Given the description of an element on the screen output the (x, y) to click on. 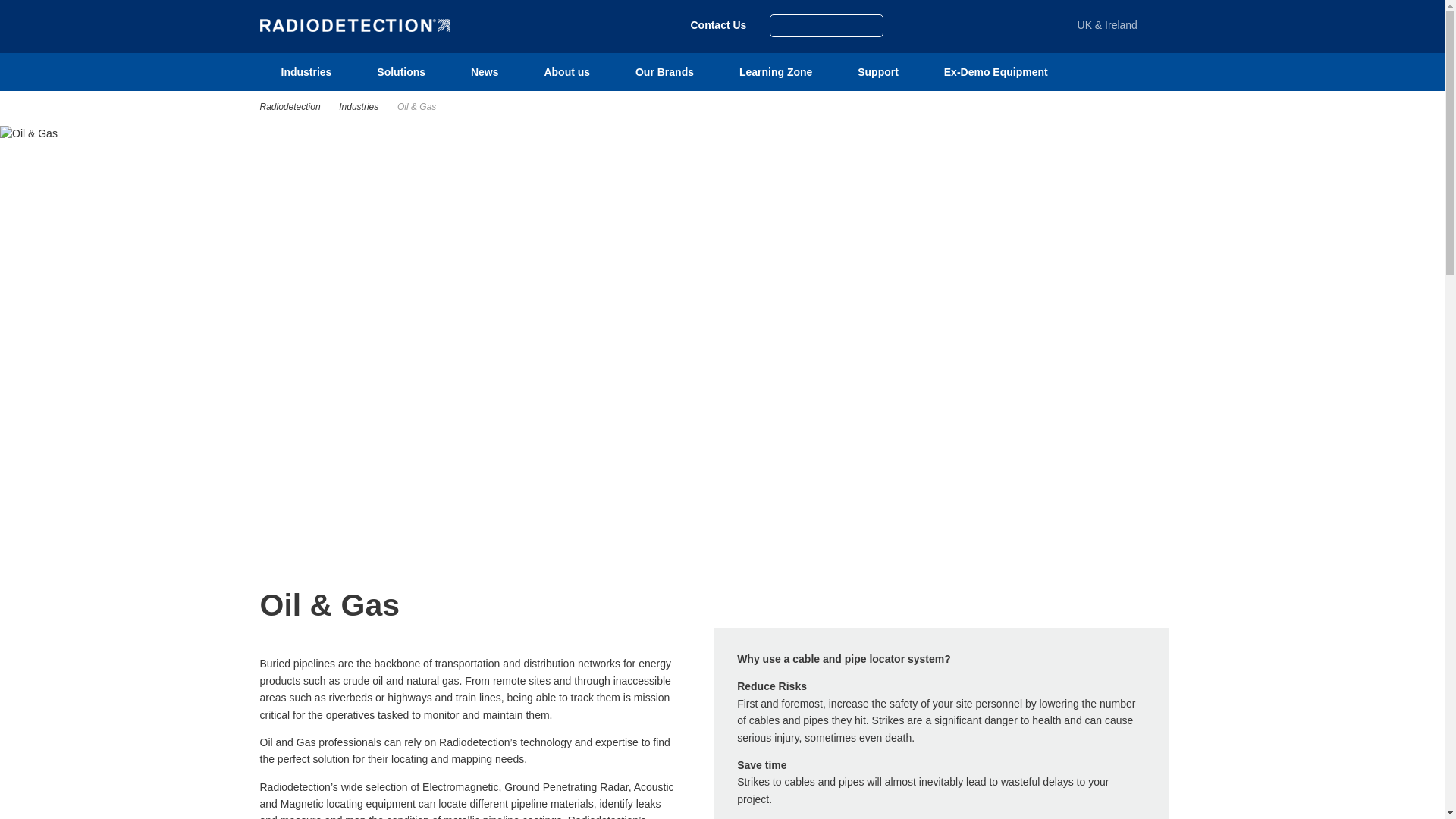
Change language (56, 15)
Contact Us (717, 24)
Apply (5, 5)
